Given the description of an element on the screen output the (x, y) to click on. 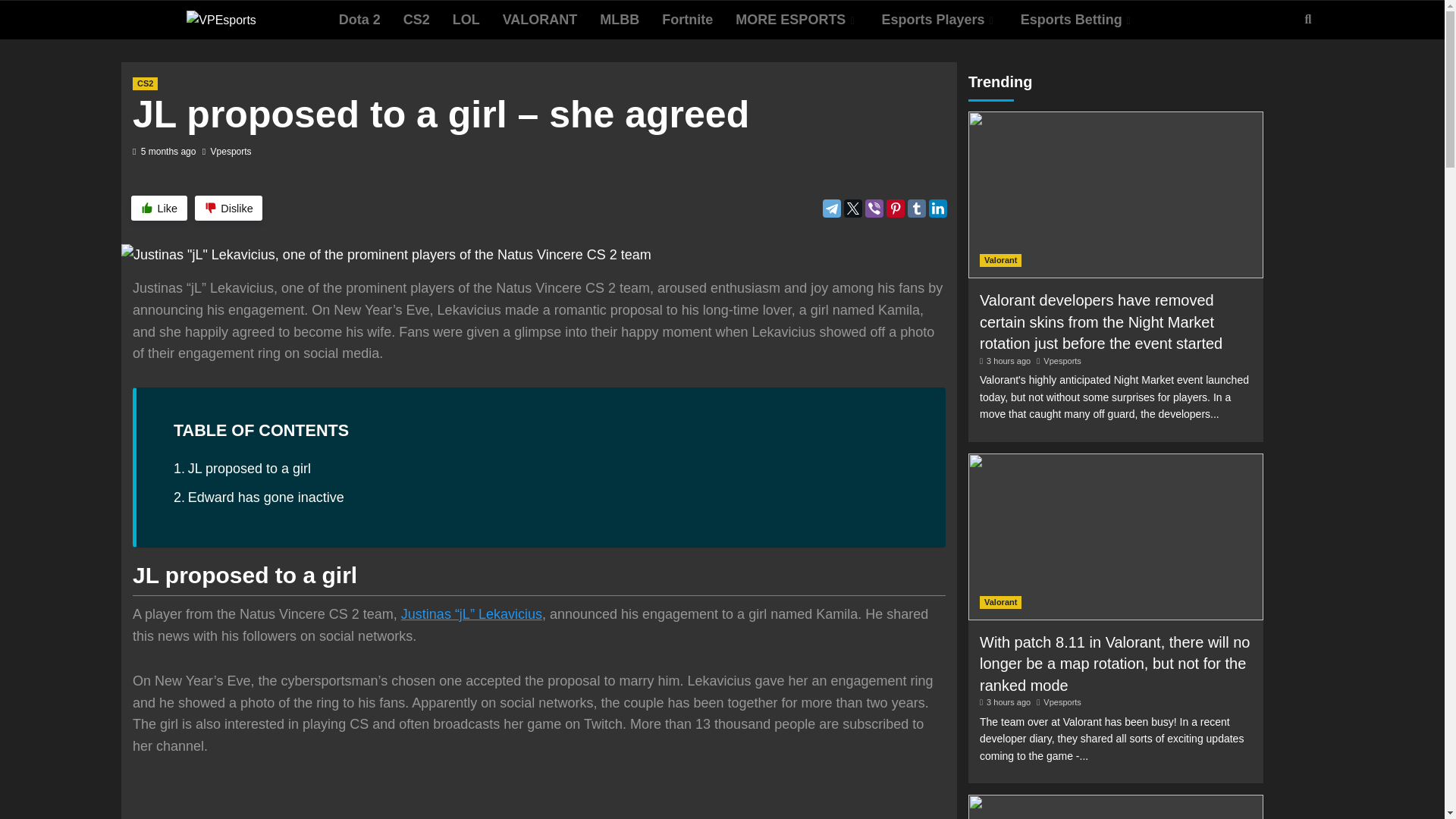
Pinterest (895, 208)
Fortnite (686, 19)
Edward has gone inactive (258, 497)
Tumblr (916, 208)
LinkedIn (937, 208)
CS2 (416, 19)
Esports Players (939, 19)
Telegram (831, 208)
VALORANT (540, 19)
Viber (873, 208)
